Given the description of an element on the screen output the (x, y) to click on. 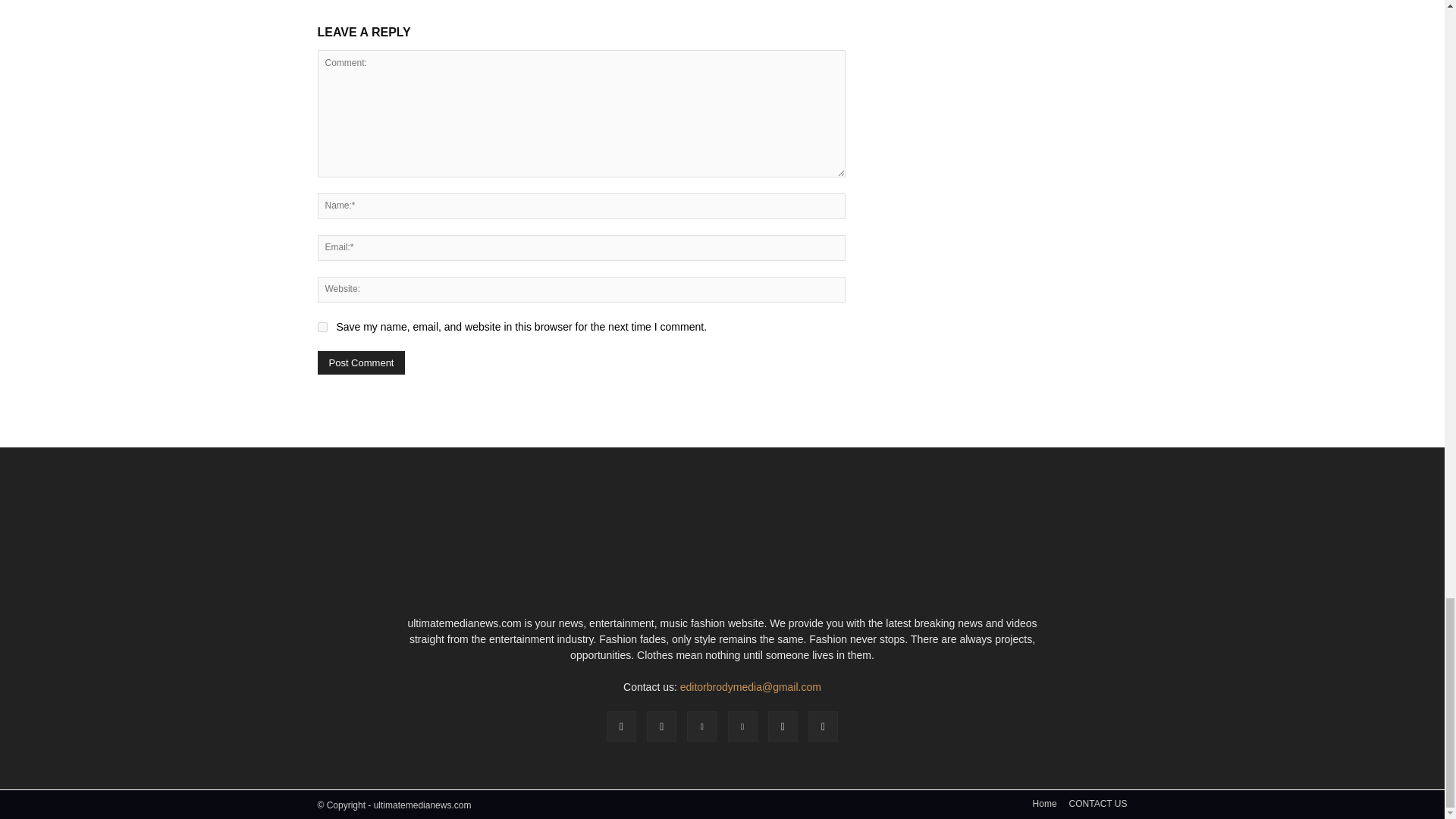
Post Comment (360, 362)
yes (321, 327)
